Given the description of an element on the screen output the (x, y) to click on. 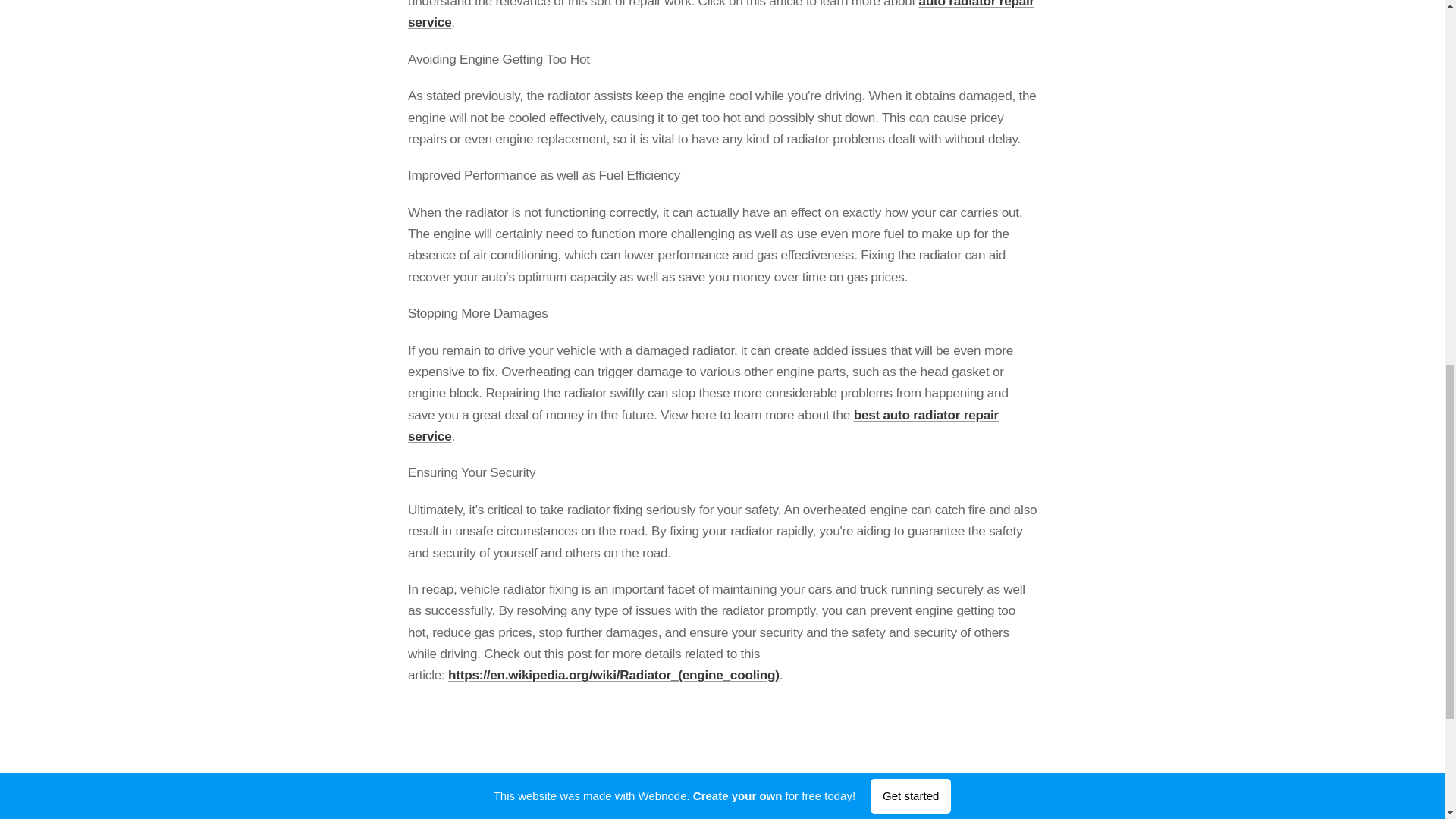
best auto radiator repair service (702, 425)
auto radiator repair service (720, 14)
